Given the description of an element on the screen output the (x, y) to click on. 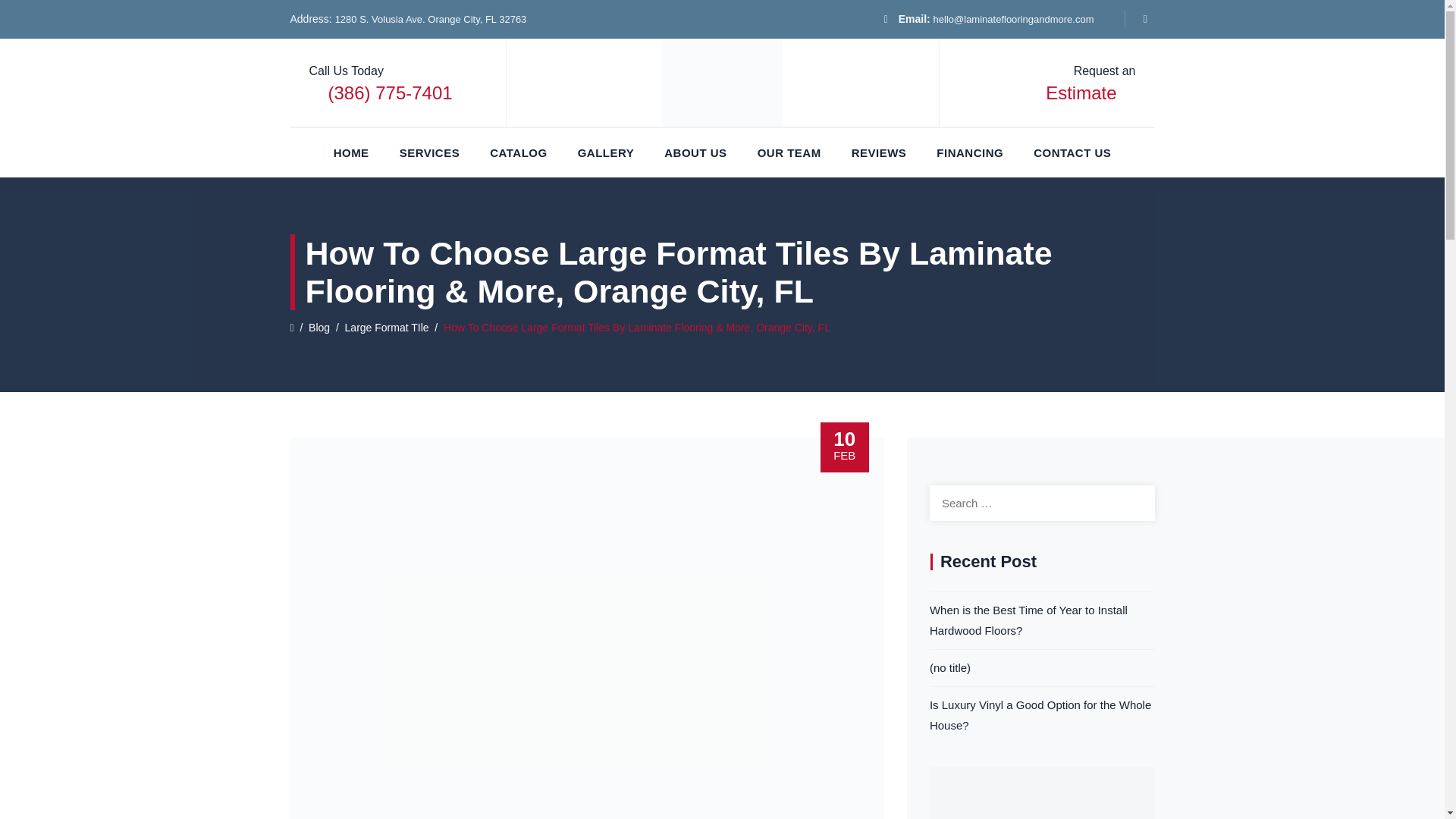
GALLERY (606, 151)
Is Luxury Vinyl a Good Option for the Whole House? (1042, 714)
Blog (319, 327)
Estimate (1080, 92)
REVIEWS (879, 151)
Search (1136, 502)
CATALOG (518, 151)
ABOUT US (694, 151)
Large Format TIle (387, 327)
SERVICES (429, 151)
Search (1136, 502)
CONTACT US (1071, 151)
FINANCING (969, 151)
OUR TEAM (789, 151)
Go to the Large Format TIle Category archives. (387, 327)
